Given the description of an element on the screen output the (x, y) to click on. 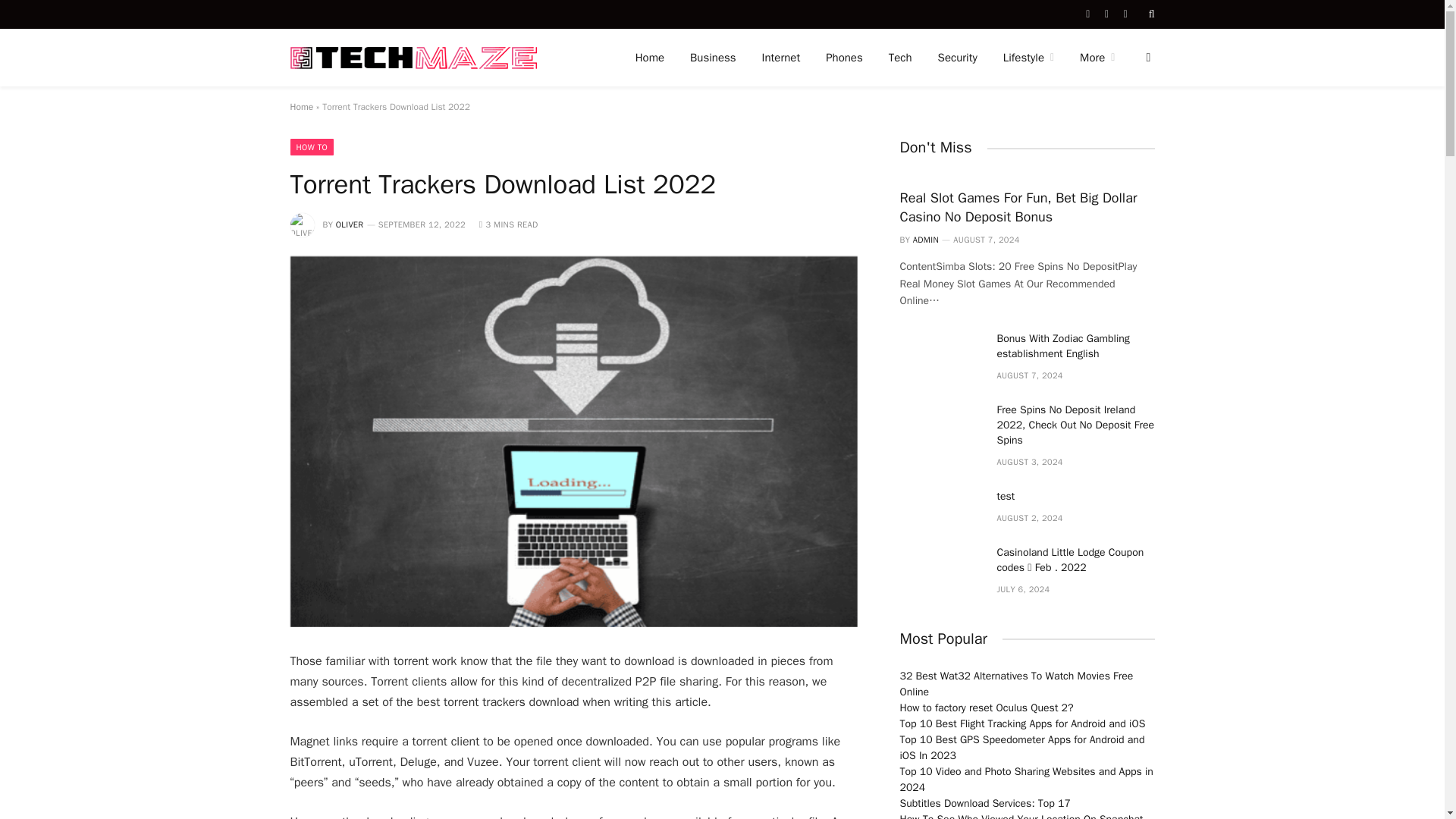
Home (301, 106)
OLIVER (350, 224)
Switch to Dark Design - easier on eyes. (1146, 57)
Posts by admin (925, 239)
Internet (781, 57)
TechMaze (412, 57)
Home (650, 57)
More (1096, 57)
HOW TO (311, 146)
Business (713, 57)
